Given the description of an element on the screen output the (x, y) to click on. 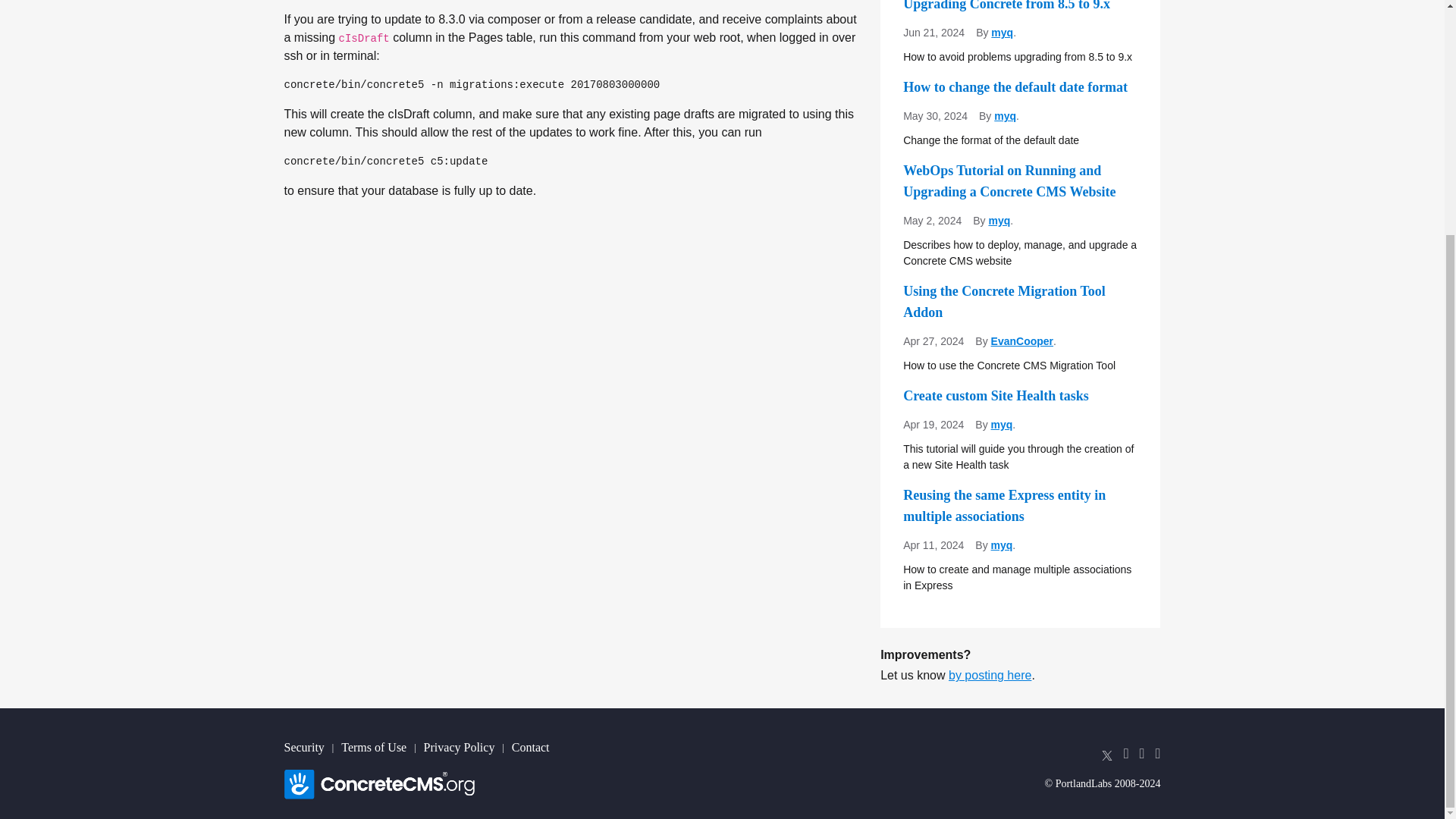
myq (1002, 32)
Upgrading Concrete from 8.5 to 9.x (1019, 7)
How to change the default date format (1019, 86)
